Given the description of an element on the screen output the (x, y) to click on. 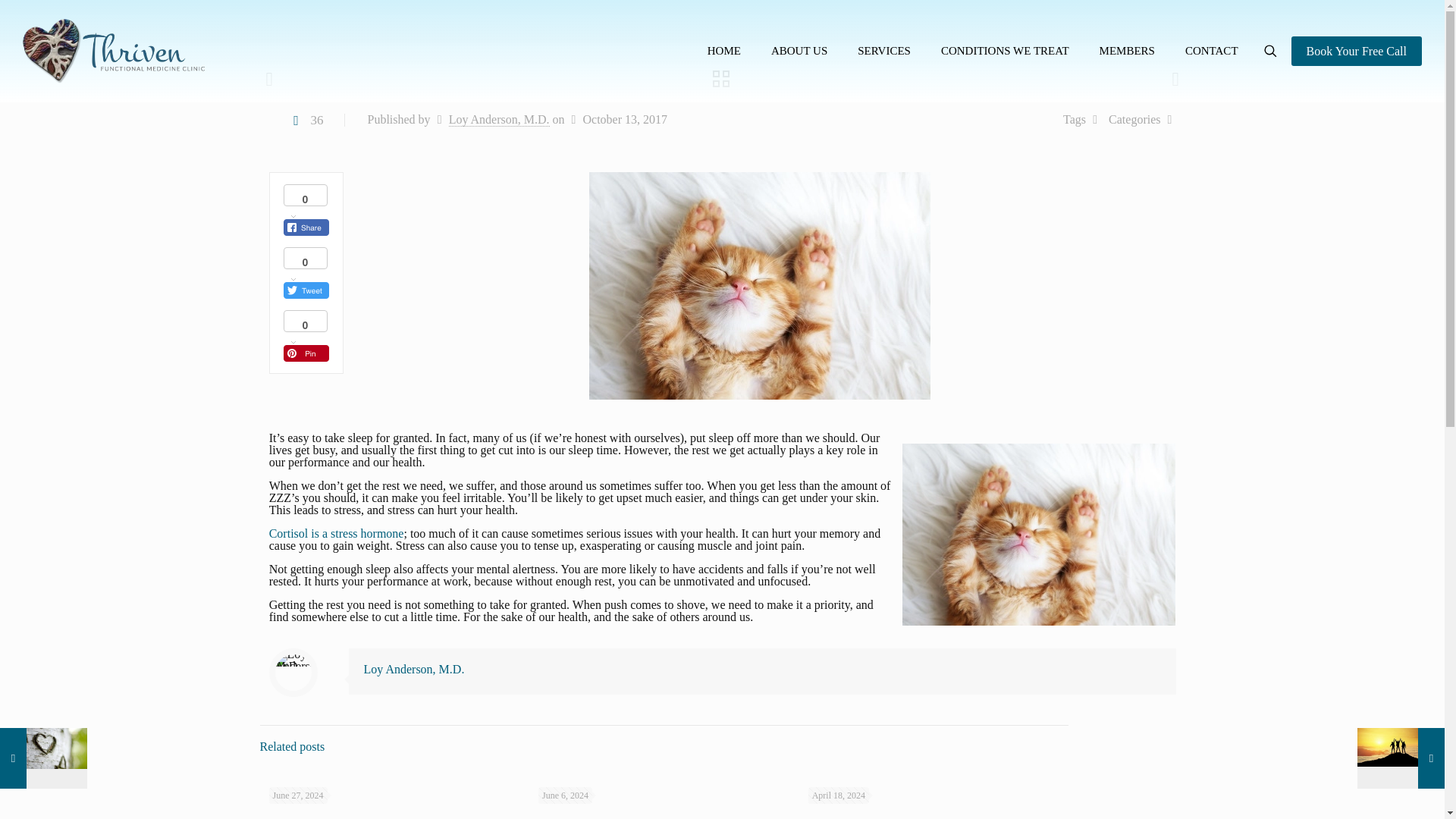
HOME (724, 51)
ABOUT US (799, 51)
